Given the description of an element on the screen output the (x, y) to click on. 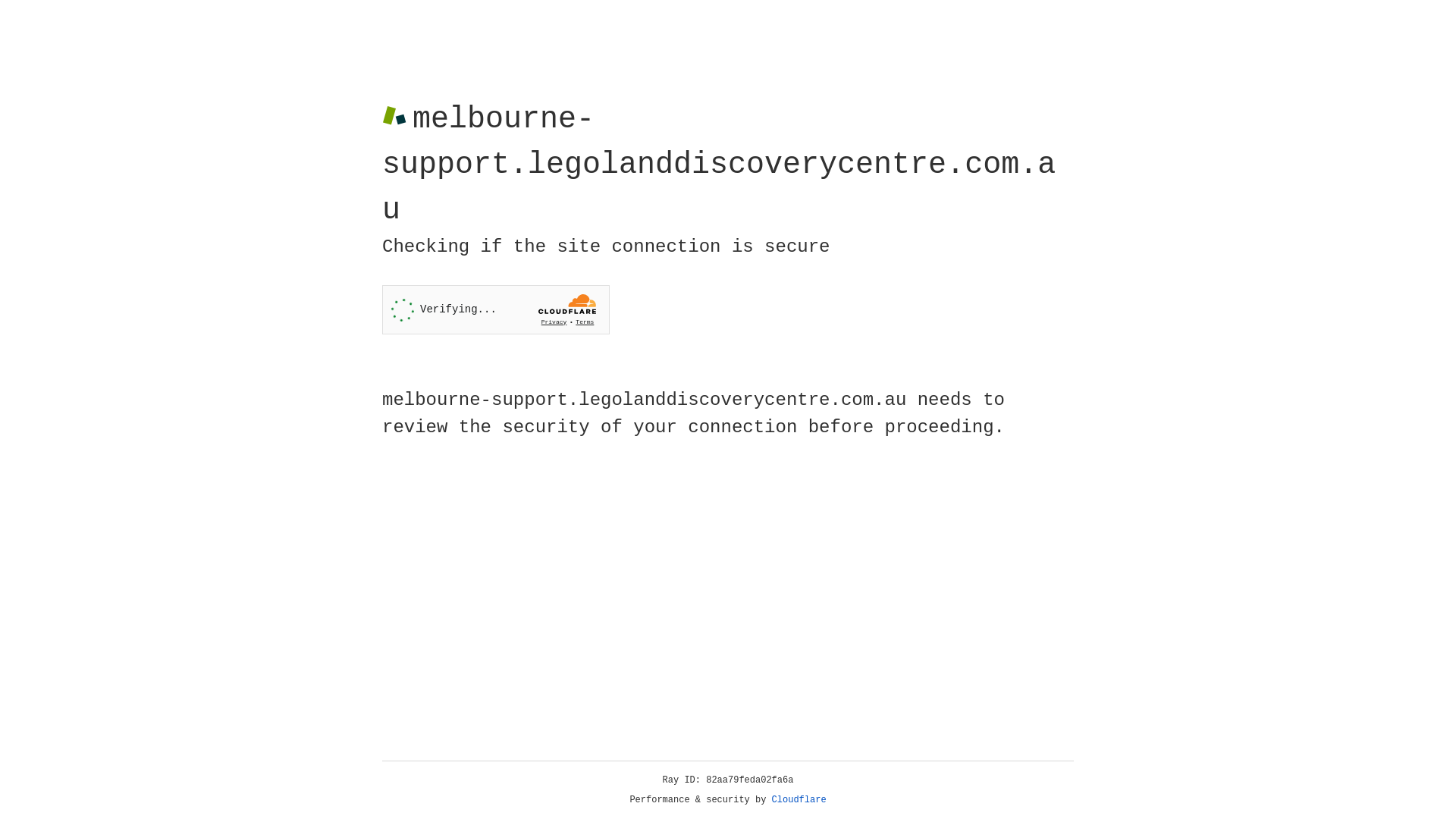
Widget containing a Cloudflare security challenge Element type: hover (495, 309)
Cloudflare Element type: text (798, 799)
